Given the description of an element on the screen output the (x, y) to click on. 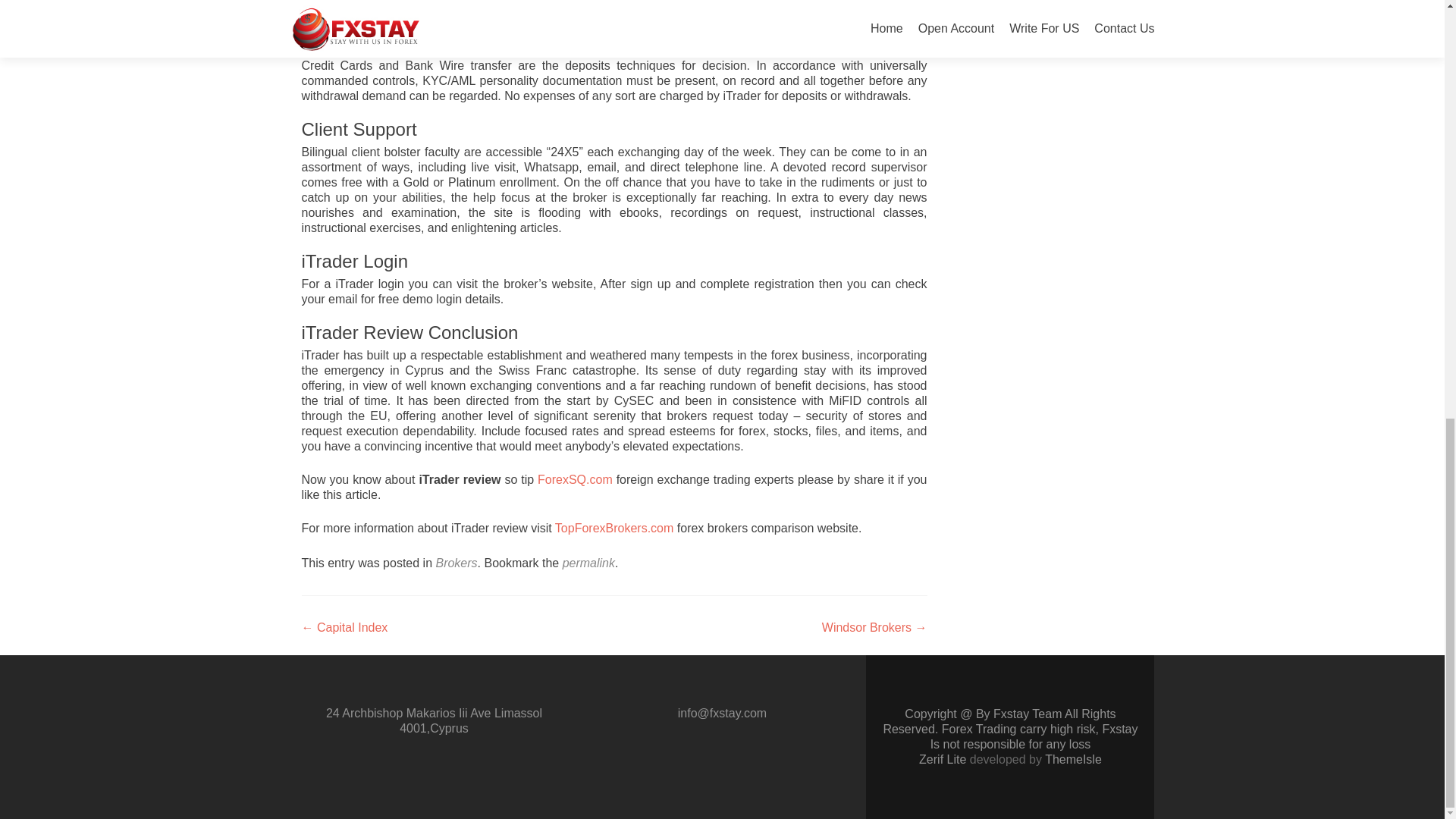
Brokers (456, 562)
permalink (588, 562)
TopForexBrokers.com (614, 527)
ThemeIsle (1073, 758)
Zerif Lite (943, 758)
ForexSQ.com (574, 479)
